Given the description of an element on the screen output the (x, y) to click on. 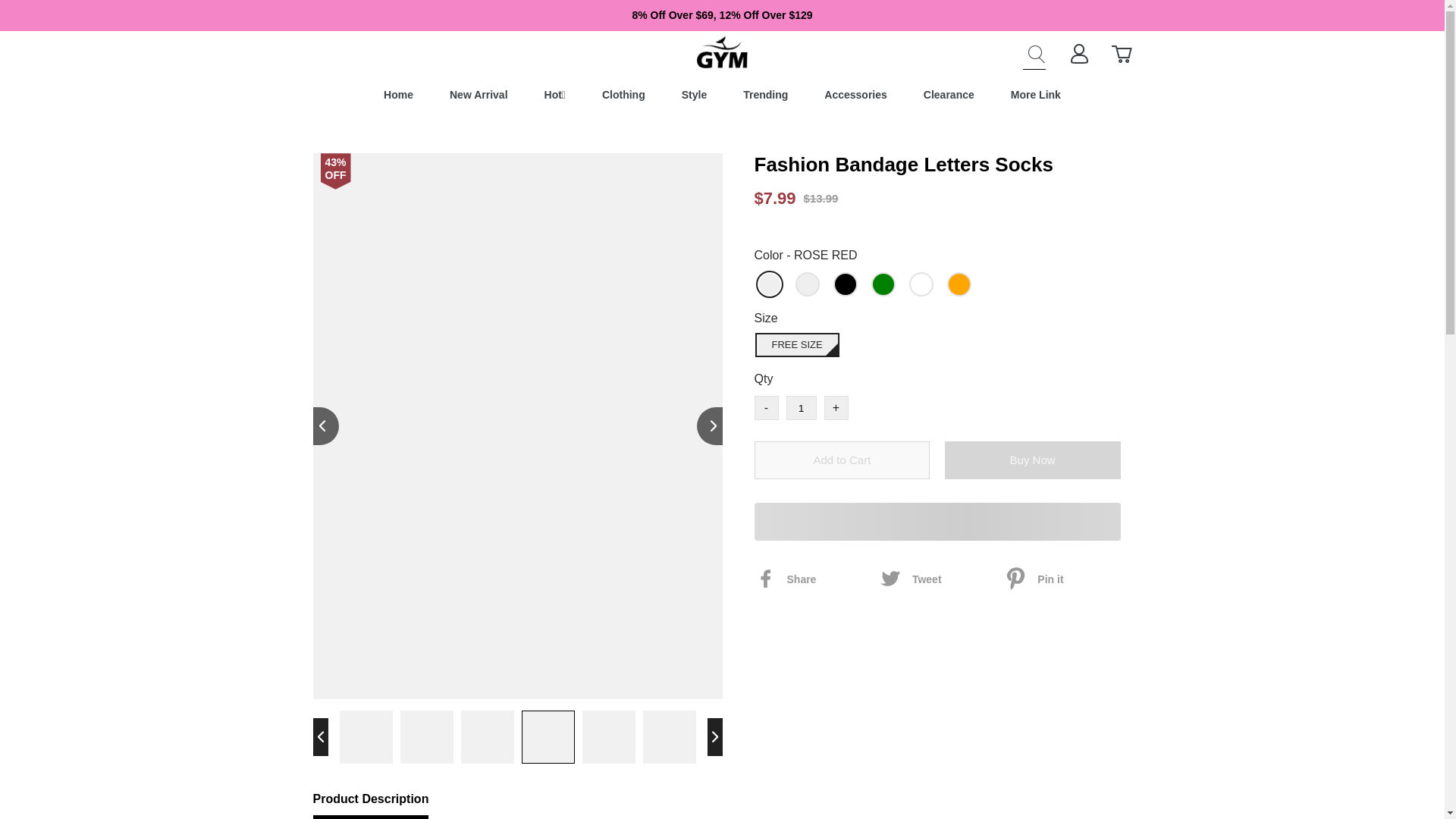
Trending (764, 94)
Style (693, 94)
1 (800, 407)
New Arrival (478, 94)
Home (398, 94)
Clothing (623, 94)
